Given the description of an element on the screen output the (x, y) to click on. 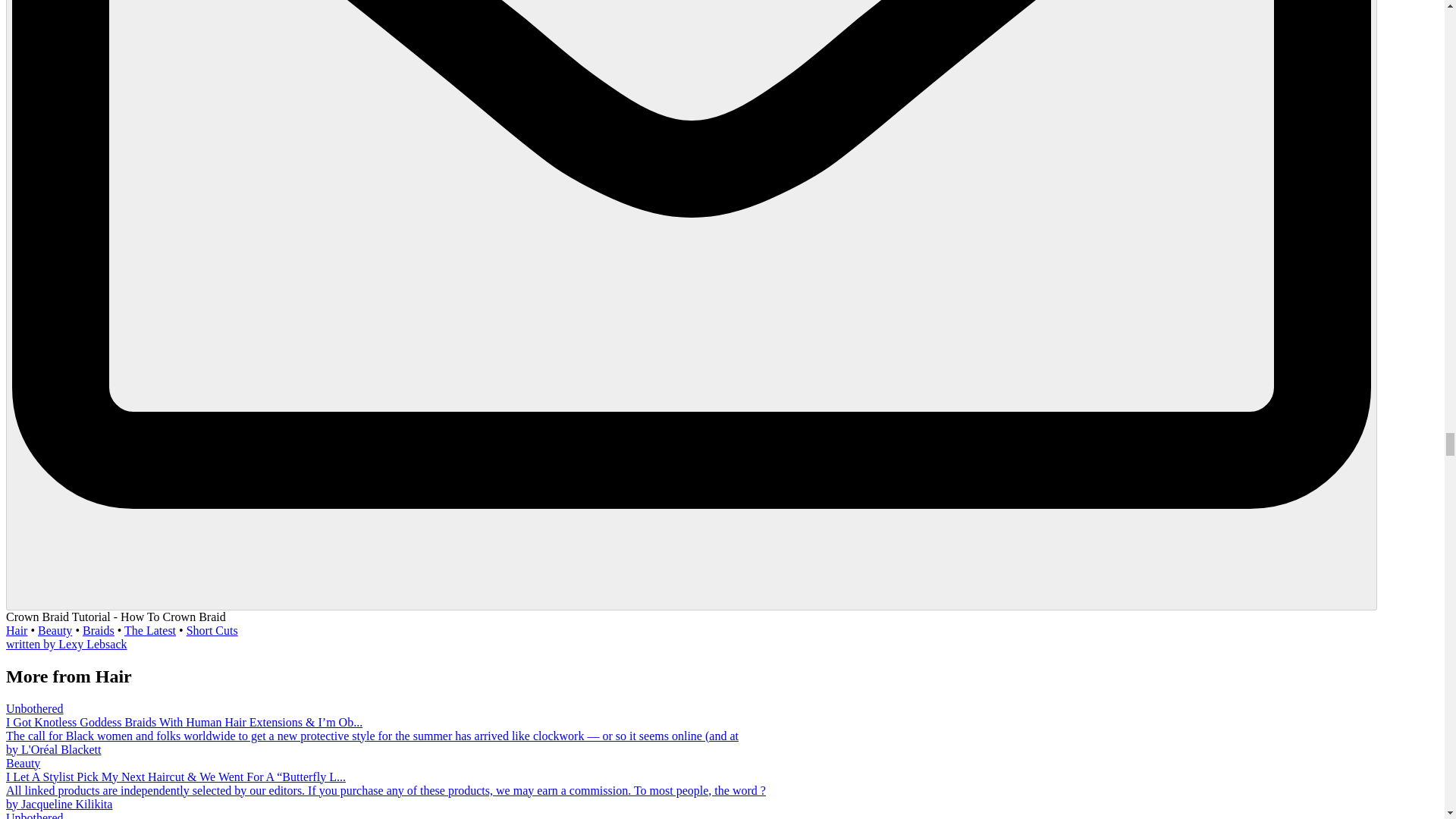
written by Lexy Lebsack (66, 644)
Short Cuts (212, 630)
Hair (16, 630)
Beauty (54, 630)
Braids (98, 630)
The Latest (149, 630)
